Given the description of an element on the screen output the (x, y) to click on. 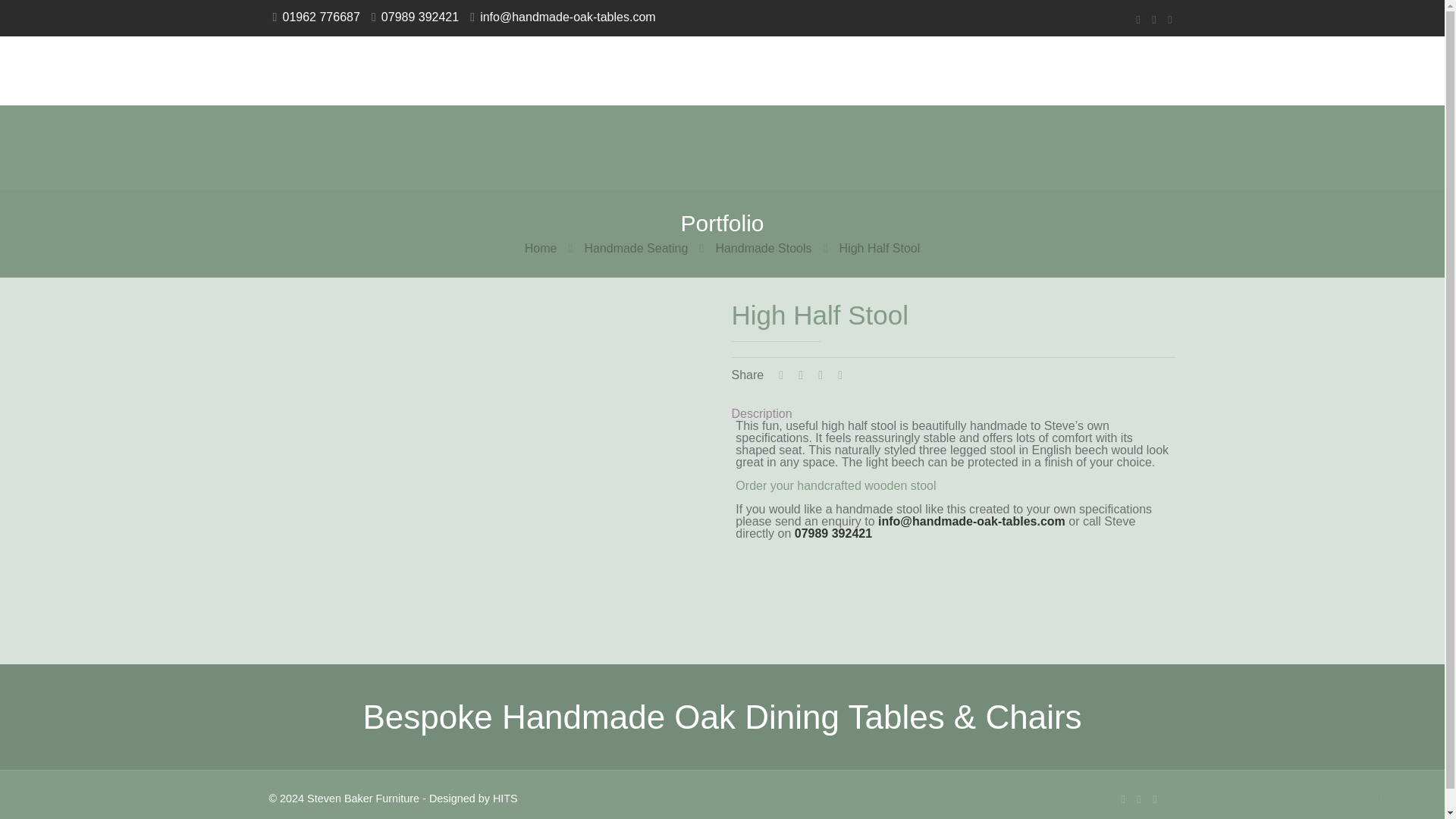
Handmade Stools (762, 247)
Pinterest (1138, 798)
Pinterest (1153, 19)
Seating (619, 70)
Facebook (1123, 798)
Description (761, 413)
Tables (538, 70)
07989 392421 (833, 533)
Home (540, 247)
Facebook (1138, 19)
07989 392421 (419, 16)
Commissions (826, 70)
Furniture (712, 70)
01962 776687 (320, 16)
Steven Baker Furniture (319, 70)
